Given the description of an element on the screen output the (x, y) to click on. 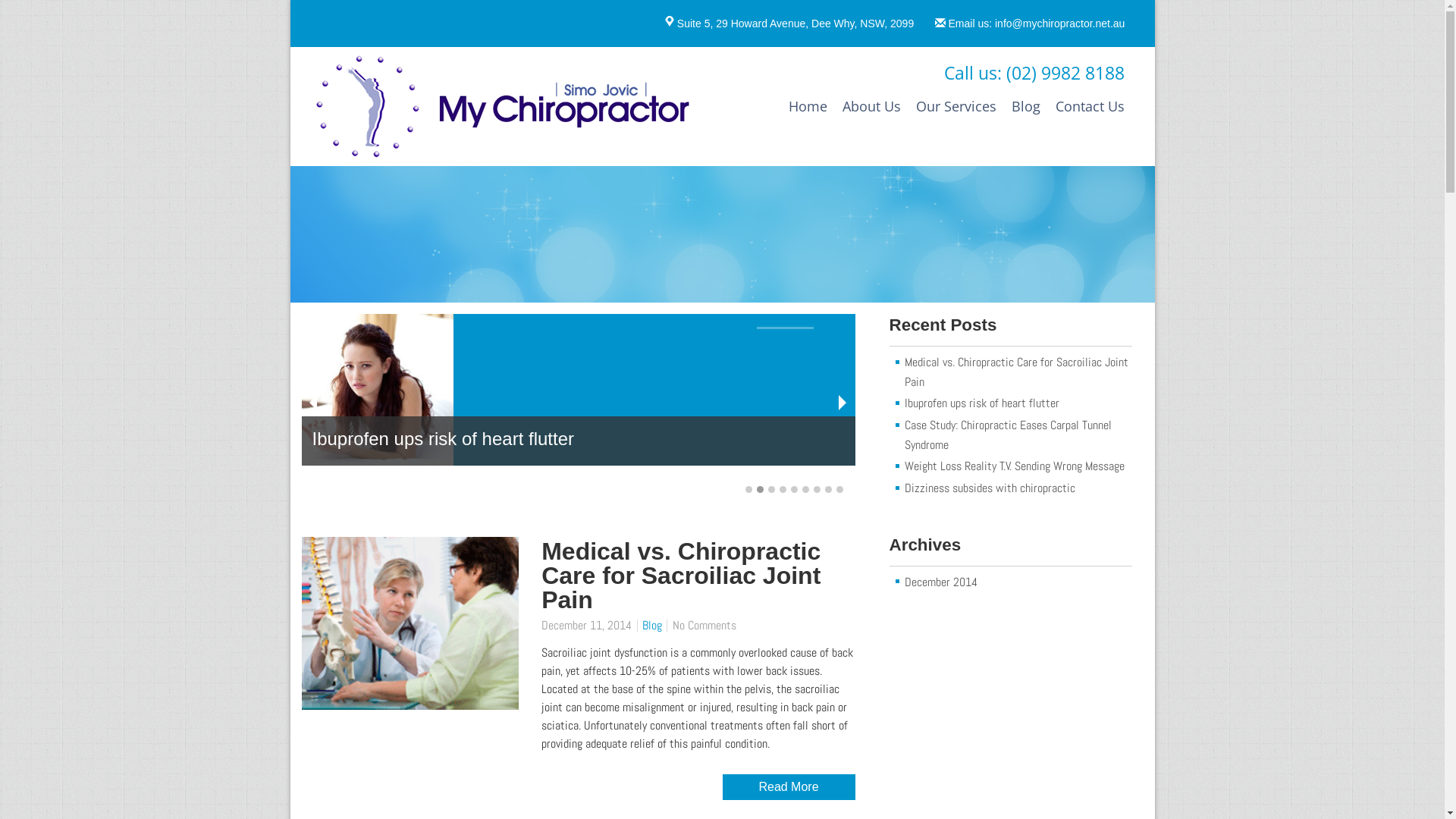
Dizziness subsides with chiropractic Element type: text (989, 487)
Blog Element type: text (652, 625)
Blog Element type: text (1026, 105)
Medical vs. Chiropractic Care for Sacroiliac Joint Pain Element type: text (697, 575)
Medical vs. Chiropractic Care for Sacroiliac Joint Pain Element type: text (1016, 371)
Ibuprofen ups risk of heart flutter Element type: text (981, 403)
Case Study: Chiropractic Eases Carpal Tunnel Syndrome Element type: text (1007, 434)
Contact Us Element type: text (1090, 105)
Read More Element type: text (787, 787)
Medical vs. Chiropractic Care for Sacroiliac Joint Pain Element type: text (578, 407)
December 2014 Element type: text (940, 581)
About Us Element type: text (870, 105)
Home Element type: text (807, 105)
Weight Loss Reality T.V. Sending Wrong Message Element type: text (1014, 465)
Our Services Element type: text (956, 105)
